Given the description of an element on the screen output the (x, y) to click on. 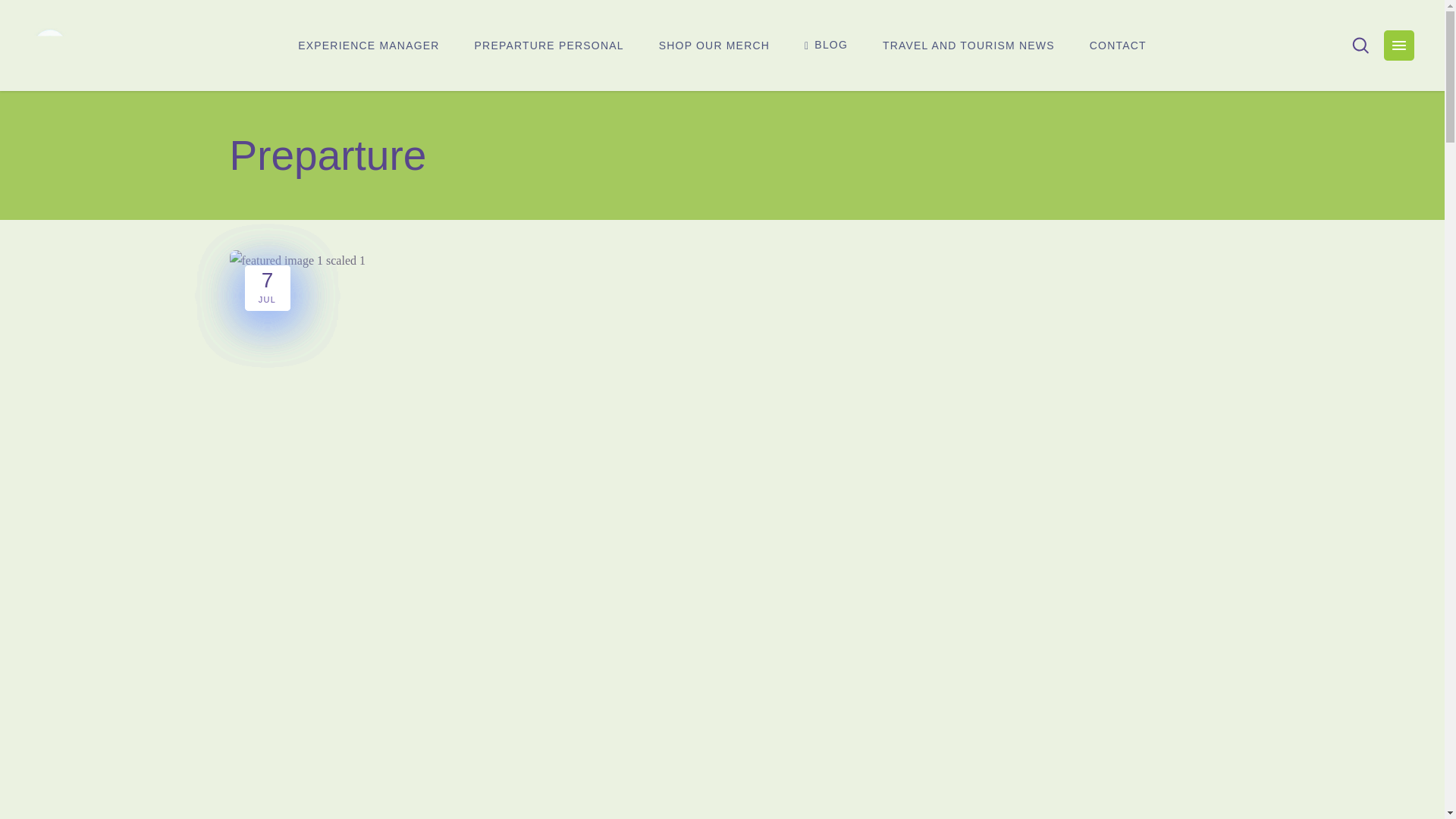
PREPARTURE PERSONAL (549, 45)
EXPERIENCE MANAGER (369, 45)
TRAVEL AND TOURISM NEWS (967, 45)
CONTACT (1117, 45)
SHOP OUR MERCH (714, 45)
